Given the description of an element on the screen output the (x, y) to click on. 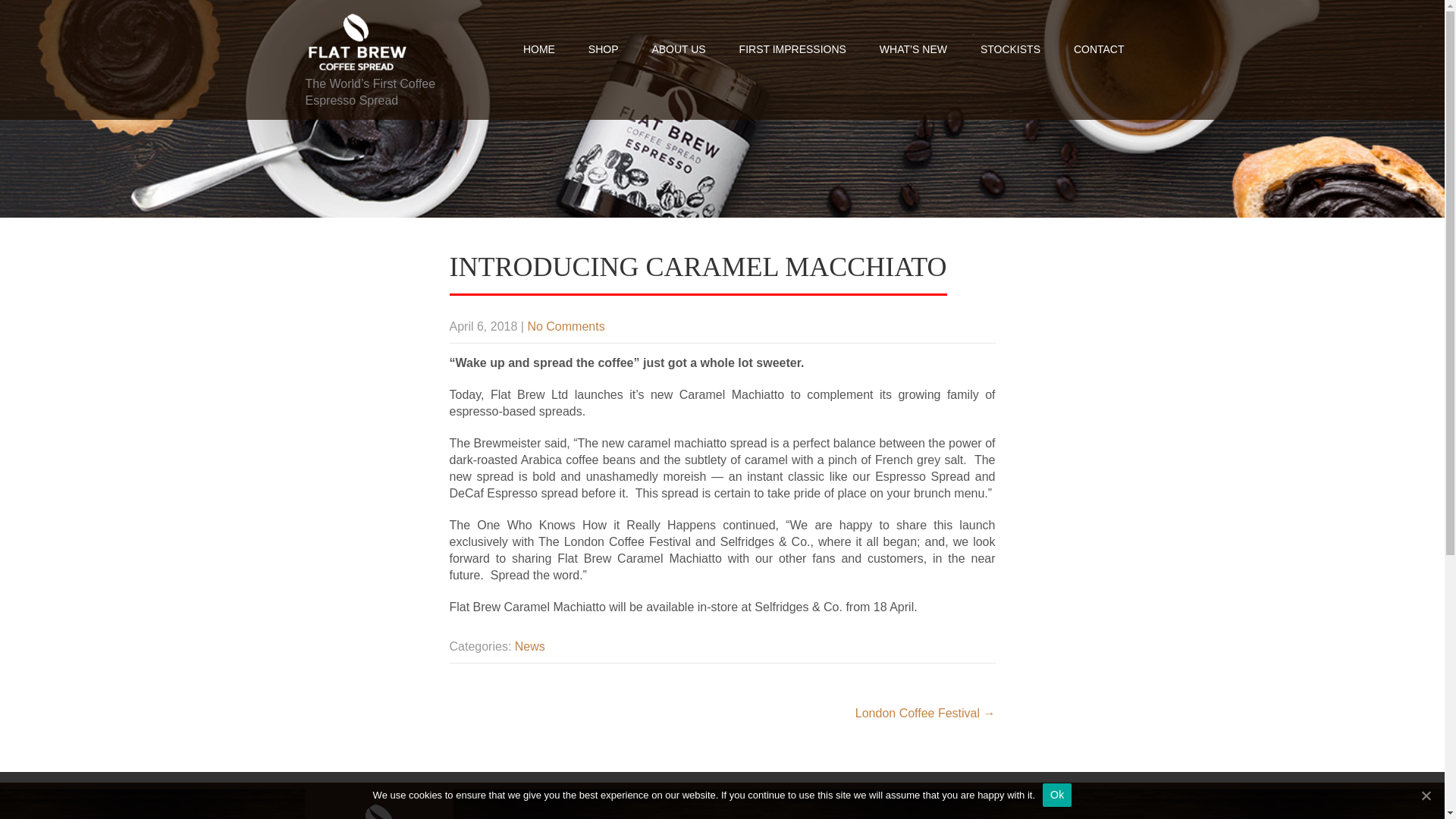
View all posts in News (529, 645)
FIRST IMPRESSIONS (792, 48)
SHOP (603, 48)
News (529, 645)
CONTACT (1099, 48)
HOME (539, 48)
No Comments (565, 326)
STOCKISTS (1010, 48)
Ok (1056, 793)
ABOUT US (678, 48)
